Given the description of an element on the screen output the (x, y) to click on. 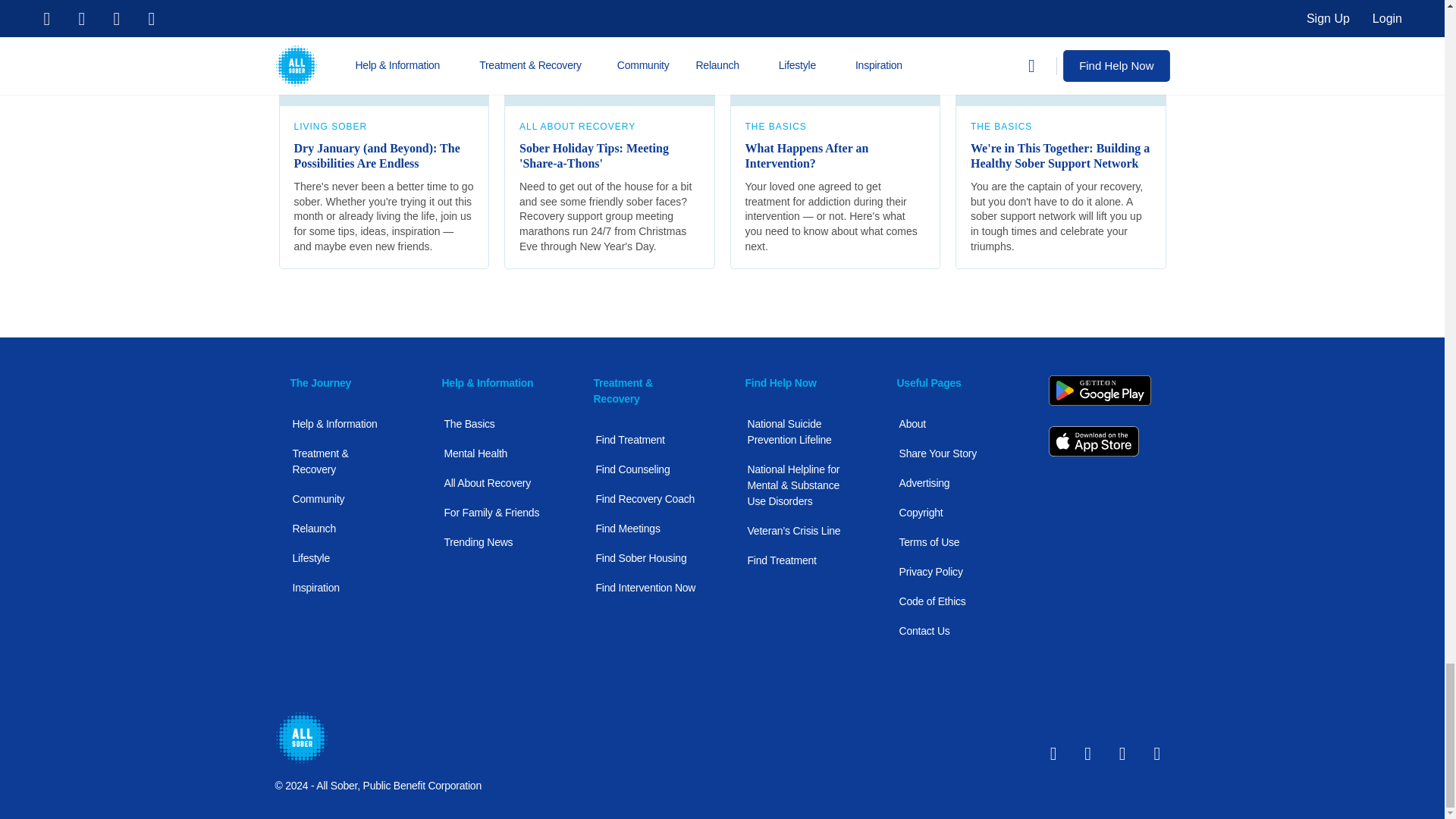
Starting the journey - All Sober (384, 53)
They accepted help after an intervention - All Sober (834, 53)
A recovery group share-a-thon - All Sober (608, 53)
